Given the description of an element on the screen output the (x, y) to click on. 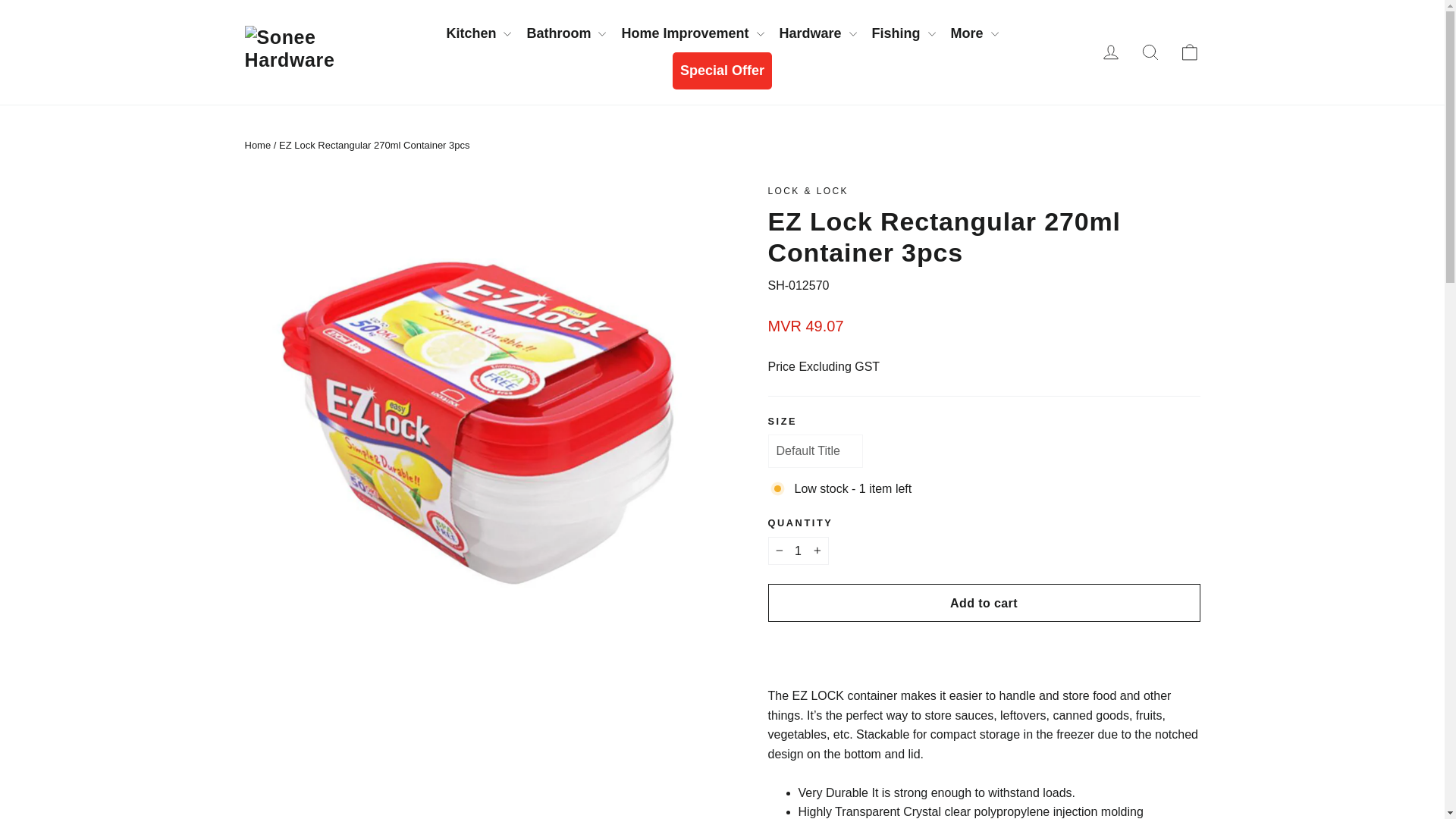
1 (797, 551)
Back to the frontpage (257, 144)
icon-search (1149, 52)
icon-bag-minimal (1188, 52)
account (1110, 52)
